Given the description of an element on the screen output the (x, y) to click on. 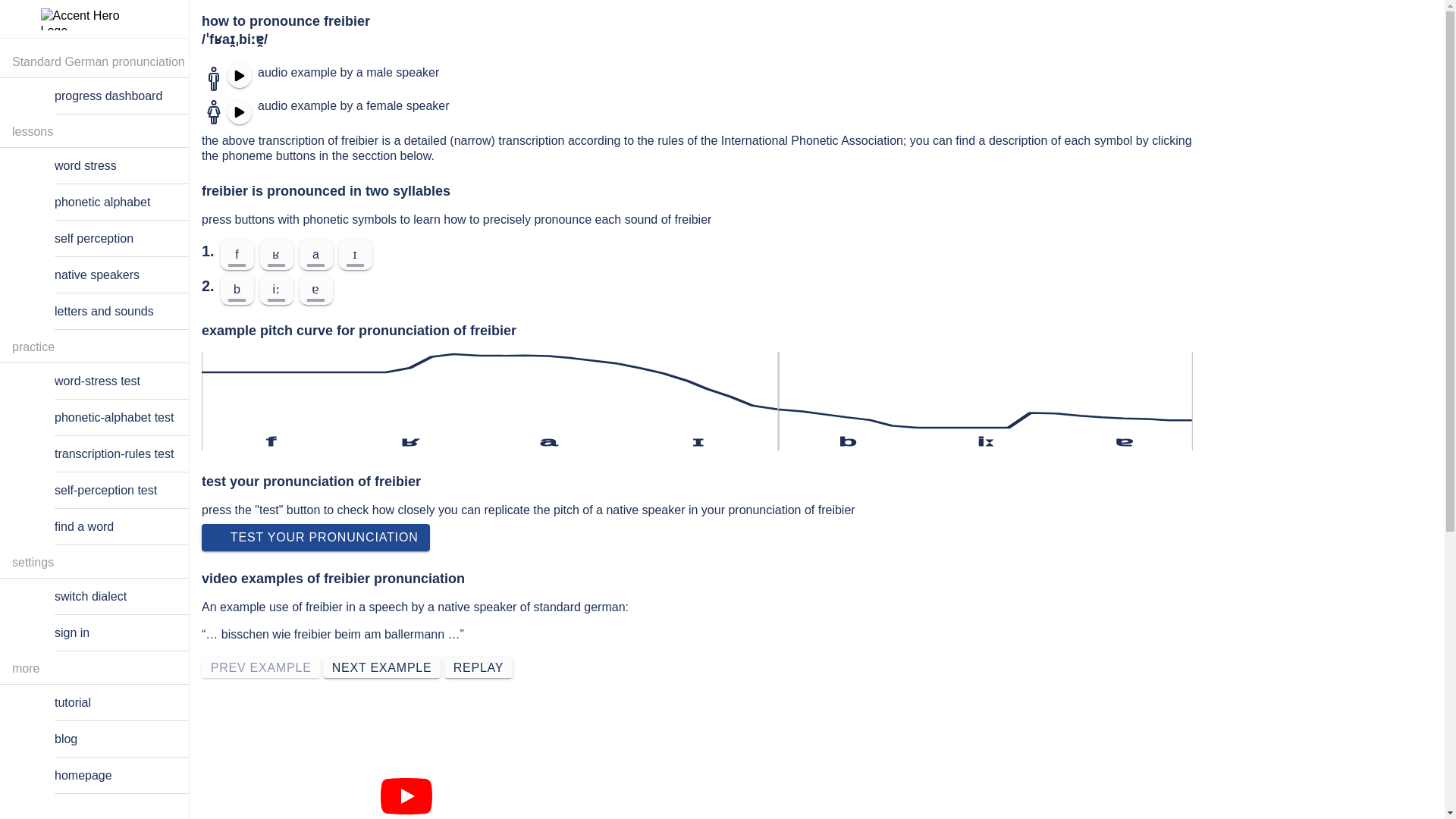
REPLAY (478, 667)
NEXT EXAMPLE (382, 667)
Learn how to evaluate your accent (115, 238)
b (237, 289)
TEST YOUR PRONUNCIATION (315, 537)
learn the common correspondences between letters and sounds (115, 311)
a (316, 254)
learn how to receive feedback from native speakers (115, 274)
Learn how word stress influences your accent (115, 165)
PREV EXAMPLE (261, 667)
Learn to precisely articulate each sound (115, 201)
f (237, 254)
